Given the description of an element on the screen output the (x, y) to click on. 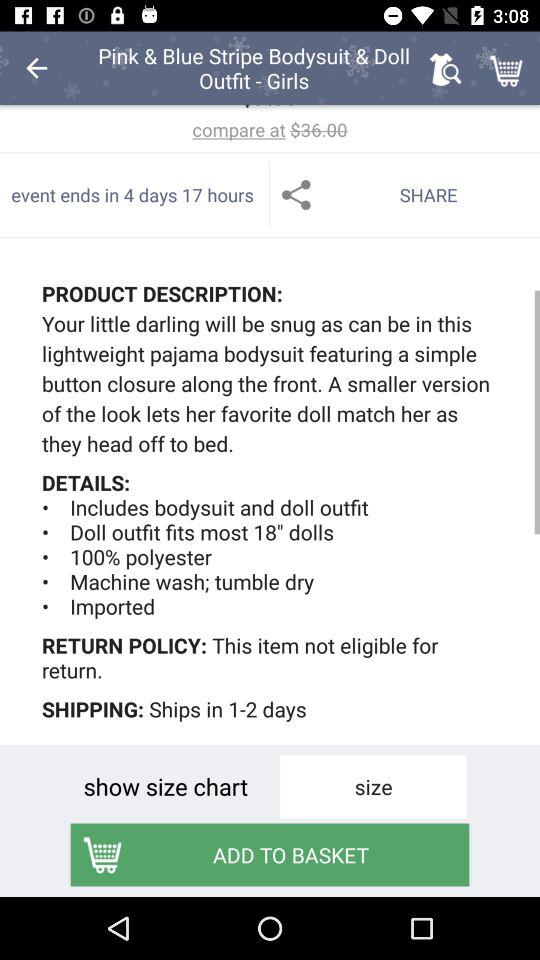
choose share (405, 194)
